Given the description of an element on the screen output the (x, y) to click on. 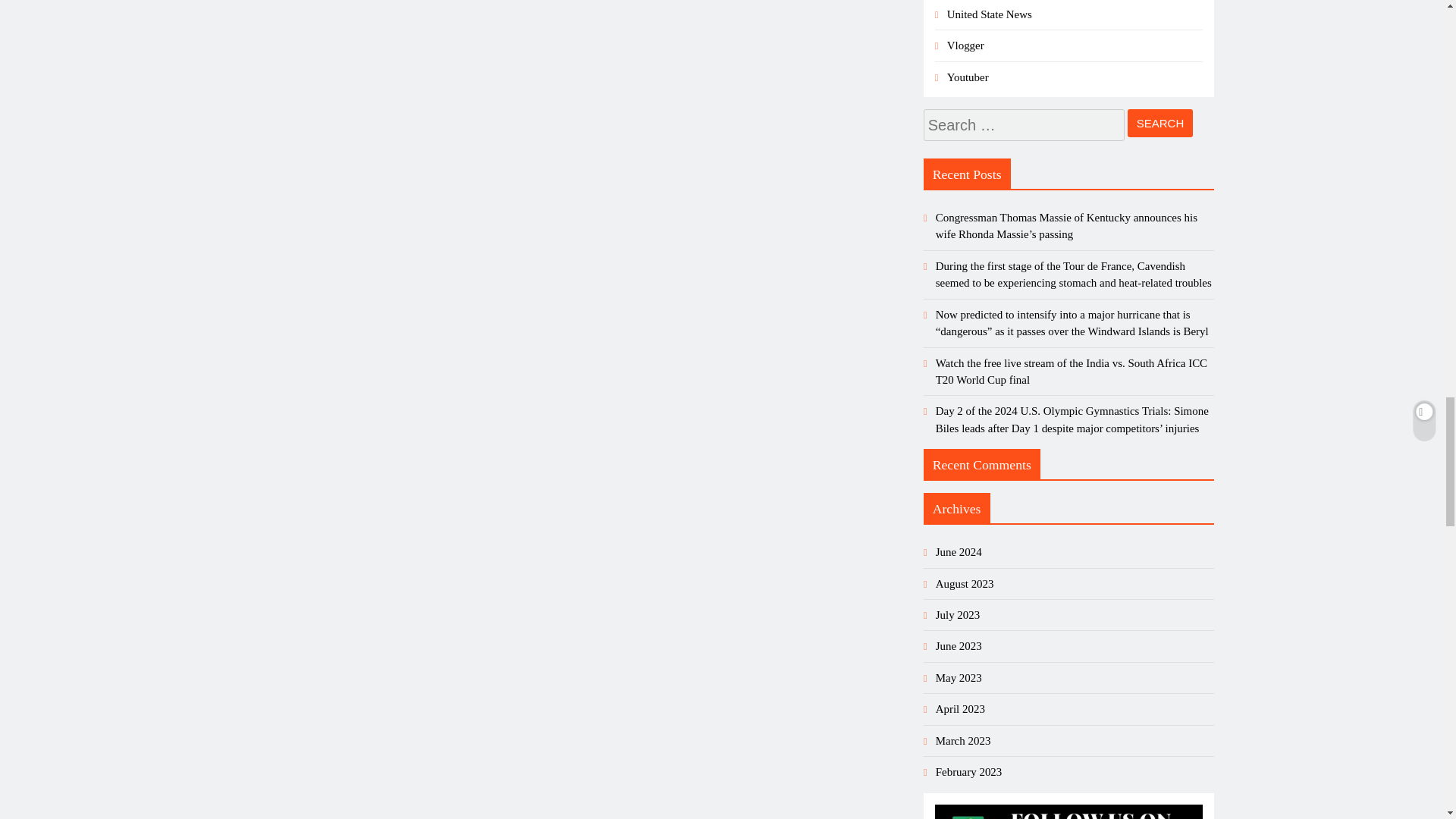
Search (1159, 122)
Search (1159, 122)
